Given the description of an element on the screen output the (x, y) to click on. 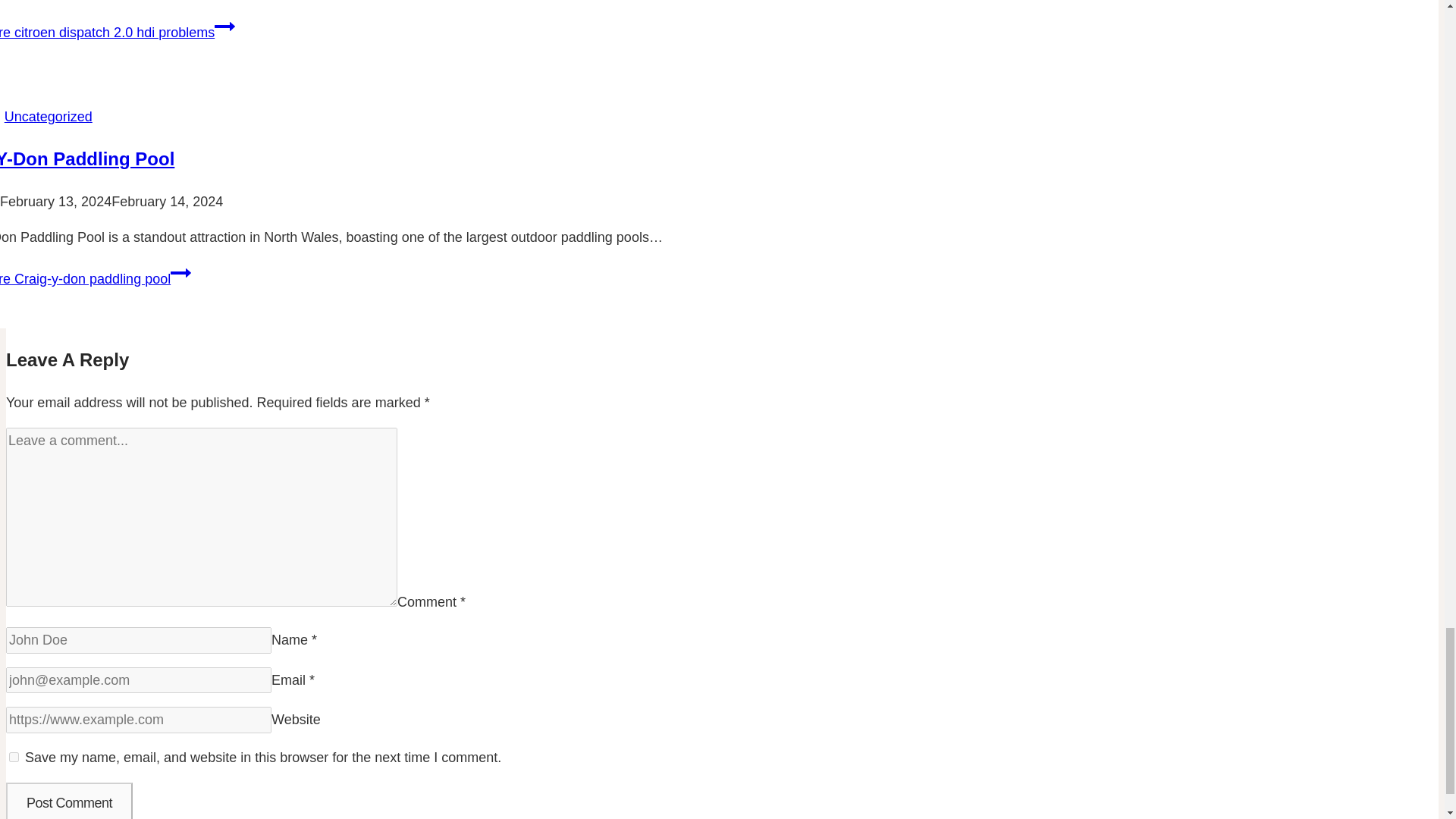
Continue (180, 272)
Uncategorized (48, 116)
Continue (224, 25)
Read More citroen dispatch 2.0 hdi problemsContinue (117, 32)
yes (13, 757)
